Given the description of an element on the screen output the (x, y) to click on. 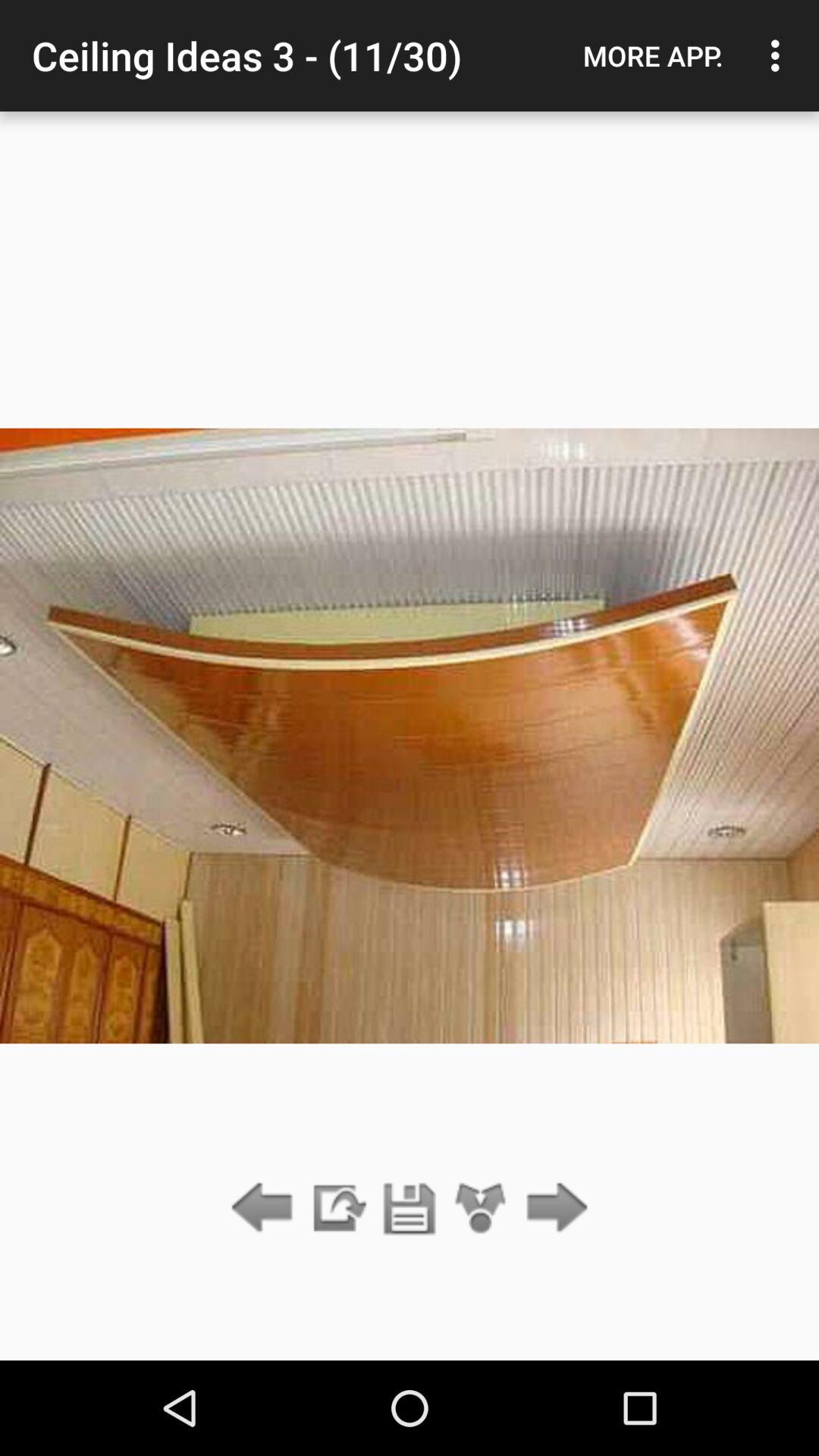
tap app to the right of the ceiling ideas 3 app (653, 55)
